Given the description of an element on the screen output the (x, y) to click on. 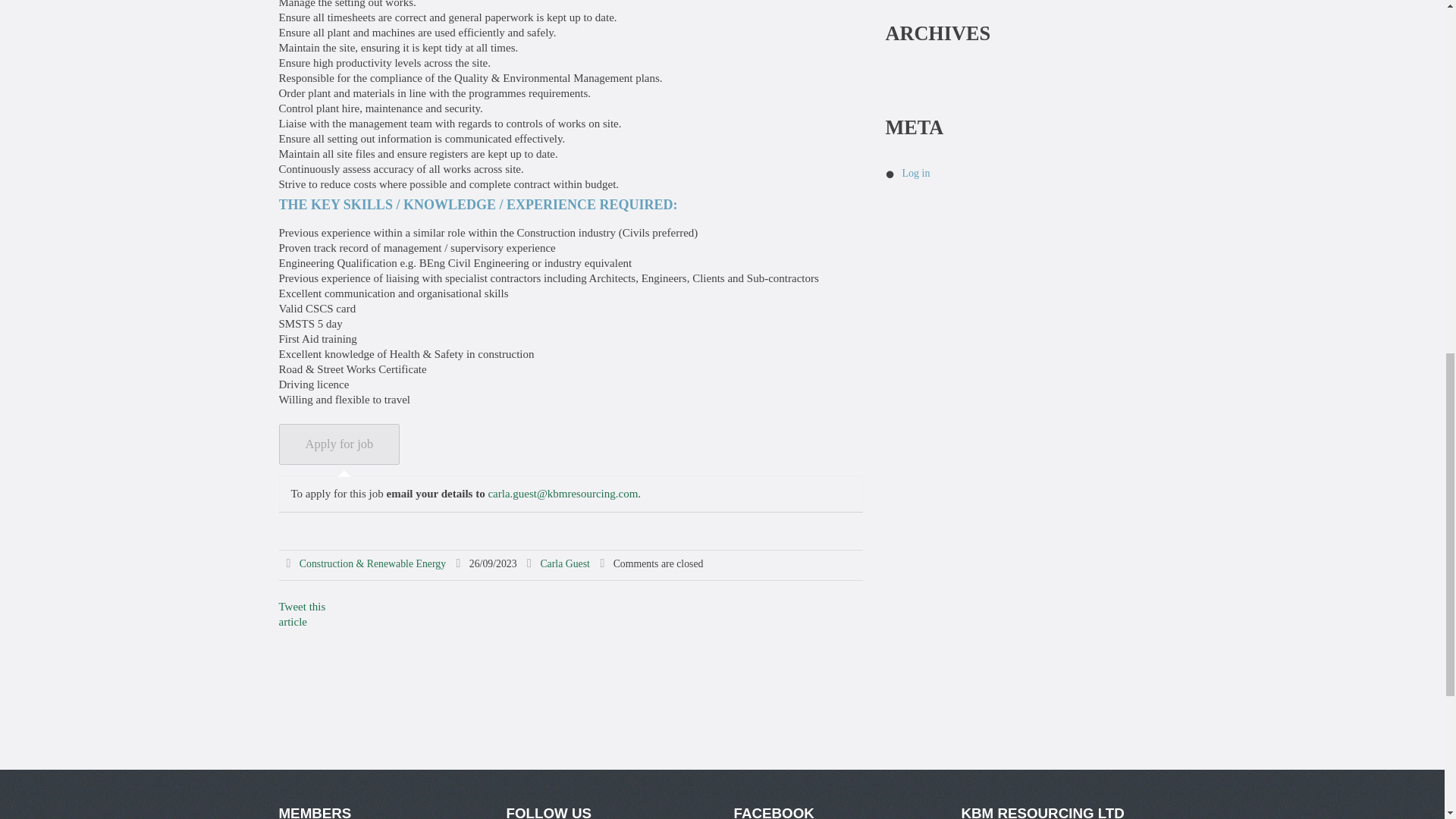
Log in (916, 173)
Apply for job (339, 444)
Posts by Carla Guest (564, 563)
Tweet this article (302, 614)
Carla Guest (564, 563)
